Given the description of an element on the screen output the (x, y) to click on. 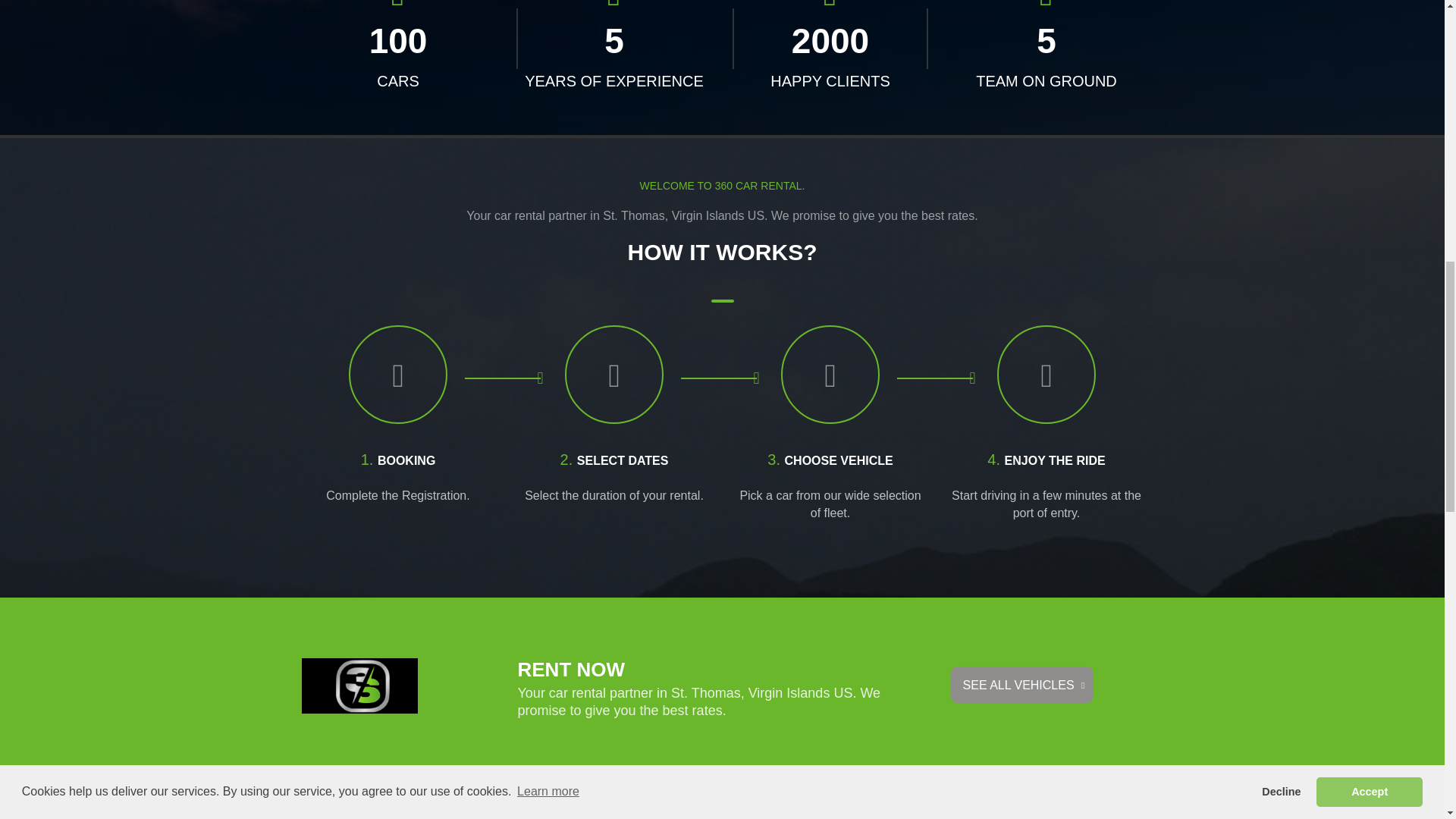
SELECT DATES (622, 460)
BOOKING (406, 460)
CHOOSE VEHICLE (838, 460)
